Given the description of an element on the screen output the (x, y) to click on. 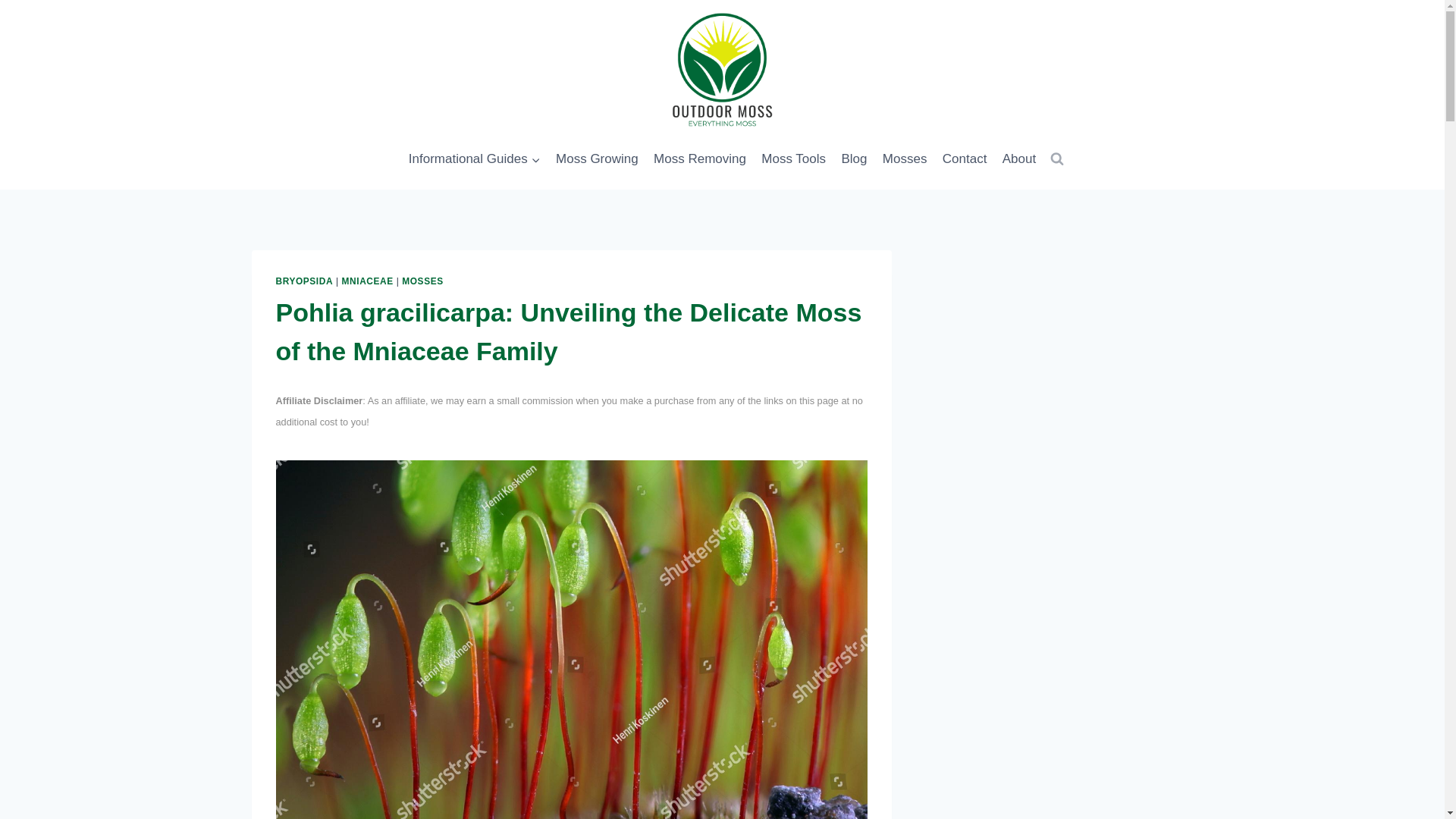
Mosses (904, 158)
MNIACEAE (367, 281)
Blog (853, 158)
BRYOPSIDA (304, 281)
Informational Guides (474, 158)
Contact (964, 158)
About (1018, 158)
MOSSES (421, 281)
Moss Removing (700, 158)
Moss Tools (793, 158)
Moss Growing (597, 158)
